Given the description of an element on the screen output the (x, y) to click on. 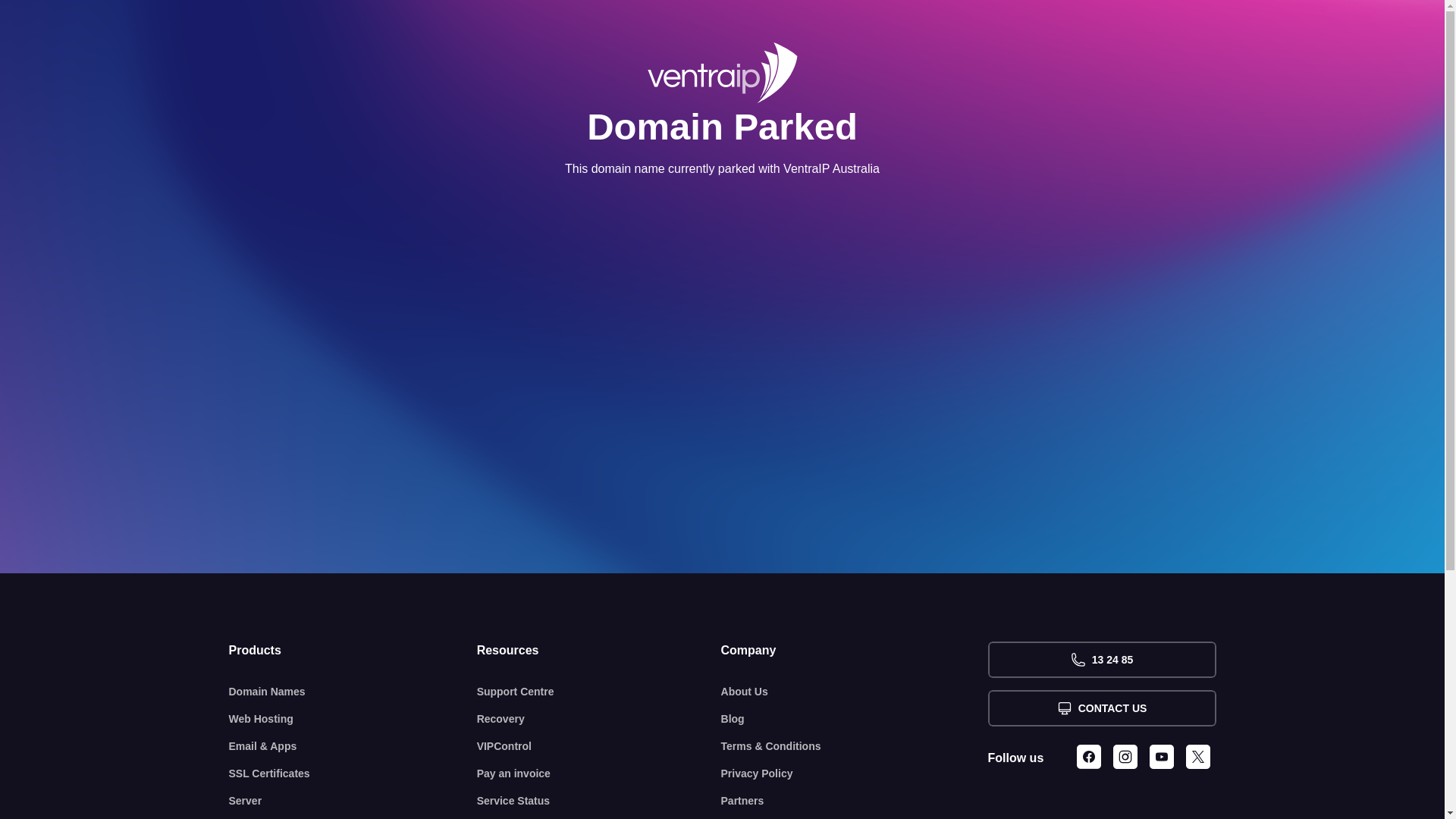
Recovery Element type: text (598, 718)
CONTACT US Element type: text (1101, 708)
Privacy Policy Element type: text (854, 773)
Server Element type: text (352, 800)
Blog Element type: text (854, 718)
Domain Names Element type: text (352, 691)
Support Centre Element type: text (598, 691)
Email & Apps Element type: text (352, 745)
Partners Element type: text (854, 800)
13 24 85 Element type: text (1101, 659)
Pay an invoice Element type: text (598, 773)
VIPControl Element type: text (598, 745)
SSL Certificates Element type: text (352, 773)
Service Status Element type: text (598, 800)
Web Hosting Element type: text (352, 718)
About Us Element type: text (854, 691)
Terms & Conditions Element type: text (854, 745)
